Given the description of an element on the screen output the (x, y) to click on. 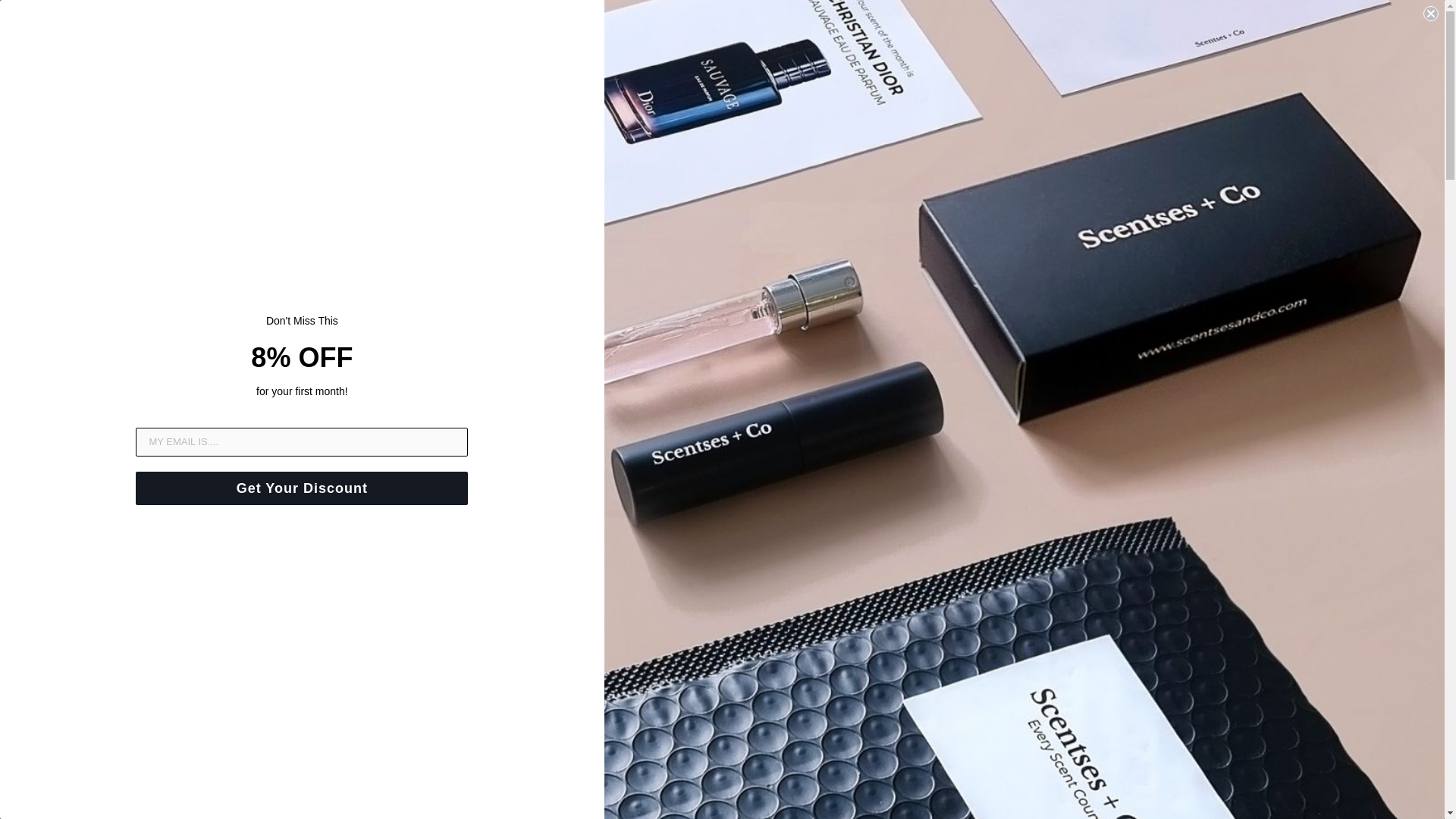
Home (413, 29)
Log in (1355, 40)
Cart (1387, 40)
Full Bottle (1019, 29)
Subscribe Today (635, 29)
Reviews (554, 29)
How it Works (480, 29)
Accessories (726, 29)
